Given the description of an element on the screen output the (x, y) to click on. 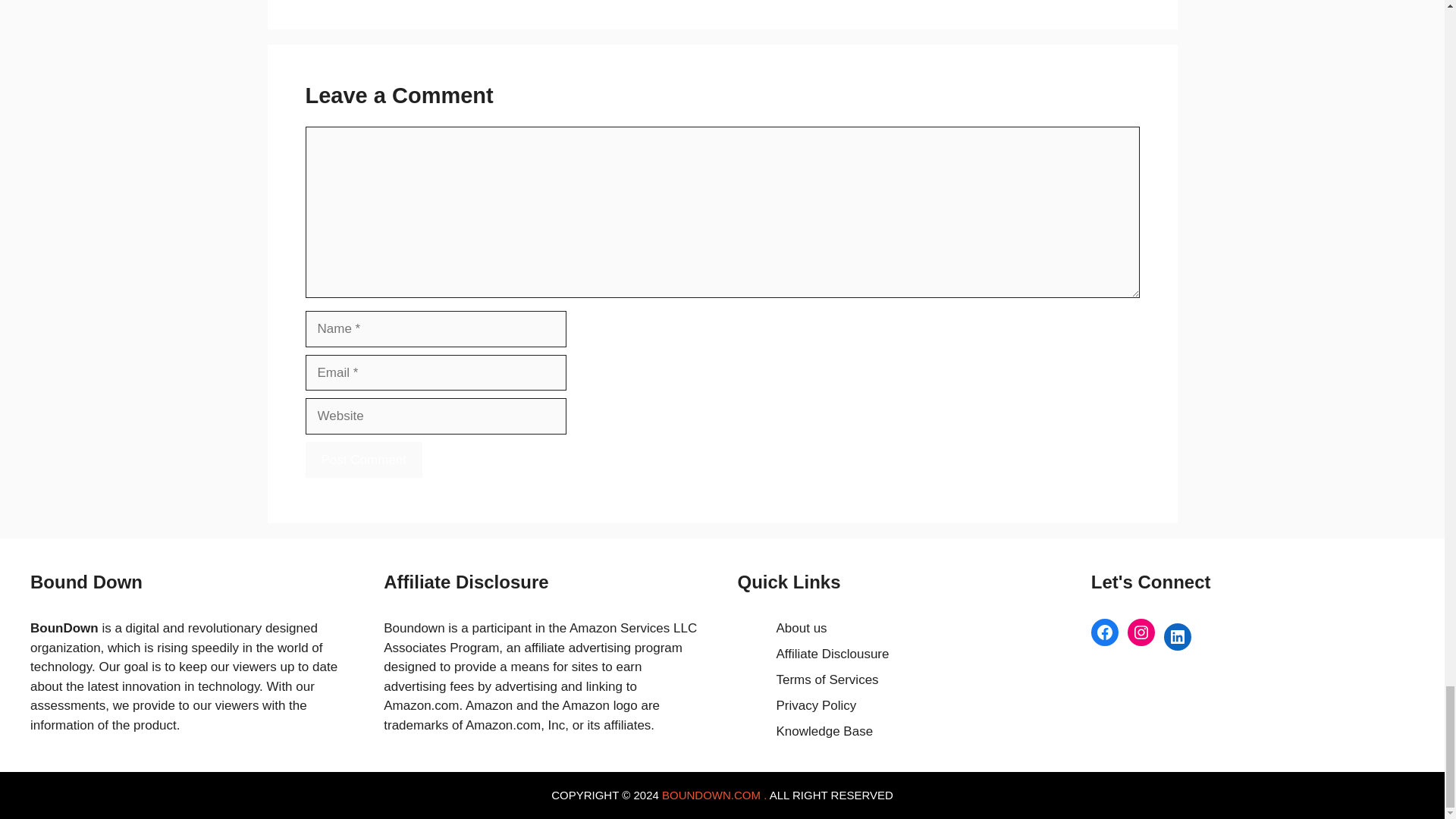
Post Comment (363, 460)
Terms of Services (827, 679)
Privacy Policy (816, 705)
Post Comment (363, 460)
BounDown (64, 627)
Knowledge Base (824, 730)
Affiliate Disclousure (832, 653)
About us (801, 627)
Facebook (1104, 632)
LinkedIn (1177, 636)
